Given the description of an element on the screen output the (x, y) to click on. 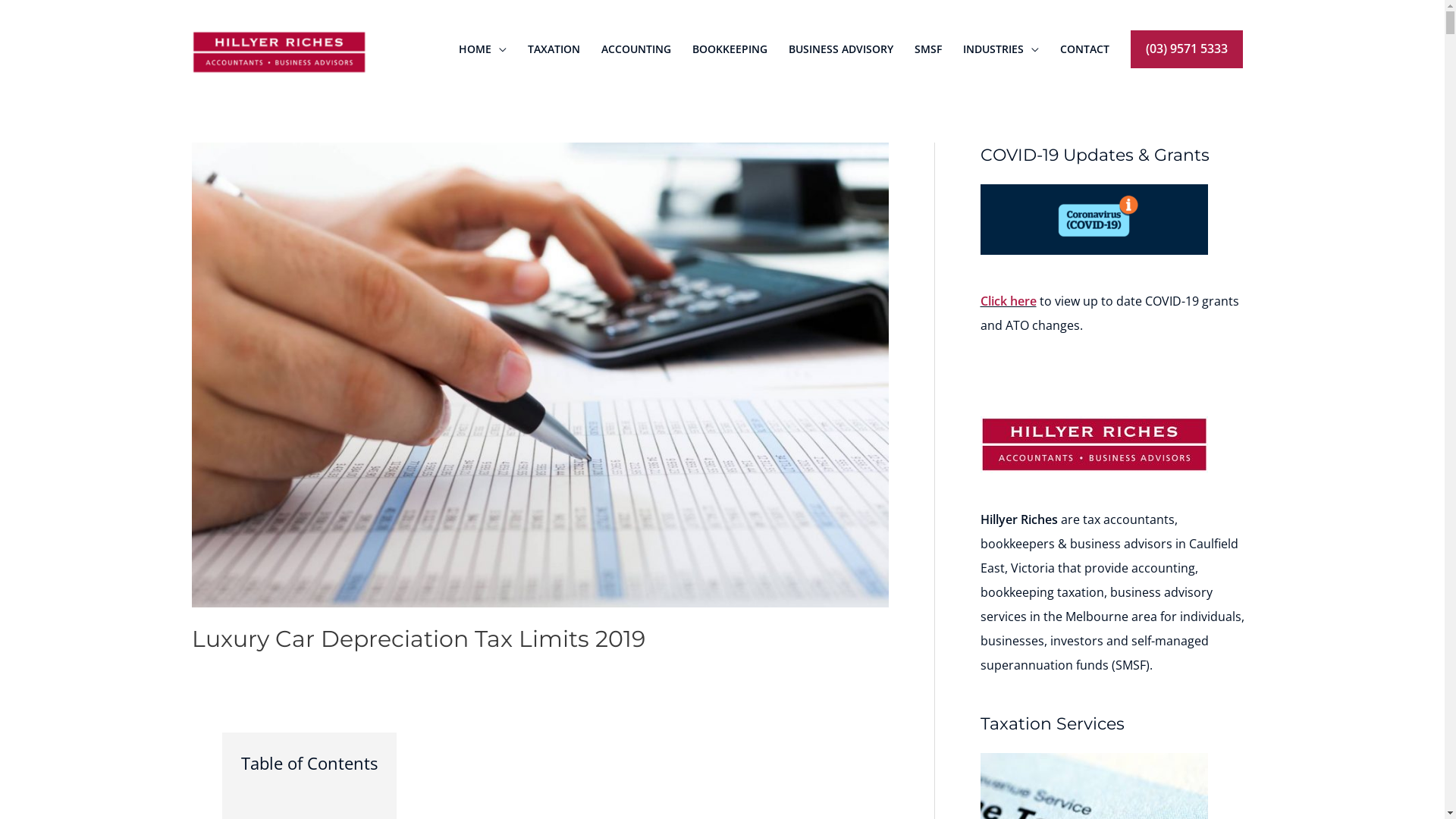
Click here Element type: text (1007, 300)
BUSINESS ADVISORY Element type: text (840, 49)
(03) 9571 5333 Element type: text (1185, 49)
HOME Element type: text (481, 49)
ACCOUNTING Element type: text (634, 49)
CONTACT Element type: text (1084, 49)
TAXATION Element type: text (553, 49)
INDUSTRIES Element type: text (1000, 49)
BOOKKEEPING Element type: text (728, 49)
SMSF Element type: text (927, 49)
